Given the description of an element on the screen output the (x, y) to click on. 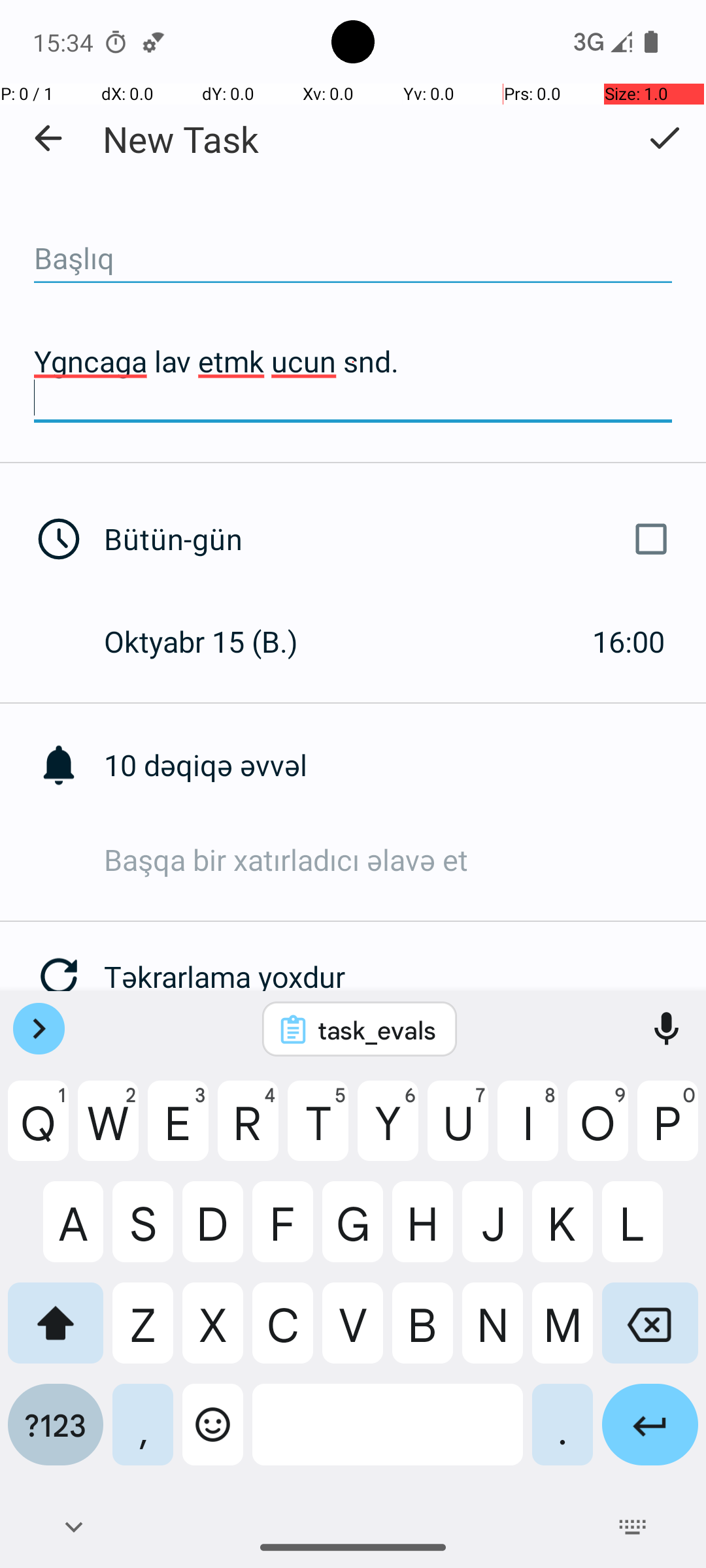
New Task Element type: android.widget.TextView (180, 138)
Saxla Element type: android.widget.Button (664, 137)
Başlıq Element type: android.widget.EditText (352, 258)
Ygncaga lav etmk ucun snd.
 Element type: android.widget.EditText (352, 379)
Oktyabr 15 (B.) Element type: android.widget.TextView (214, 640)
10 dəqiqə əvvəl Element type: android.widget.TextView (404, 764)
Başqa bir xatırladıcı əlavə et Element type: android.widget.TextView (404, 859)
Təkrarlama yoxdur Element type: android.widget.TextView (404, 976)
Bütün-gün Element type: android.widget.CheckBox (390, 538)
